Given the description of an element on the screen output the (x, y) to click on. 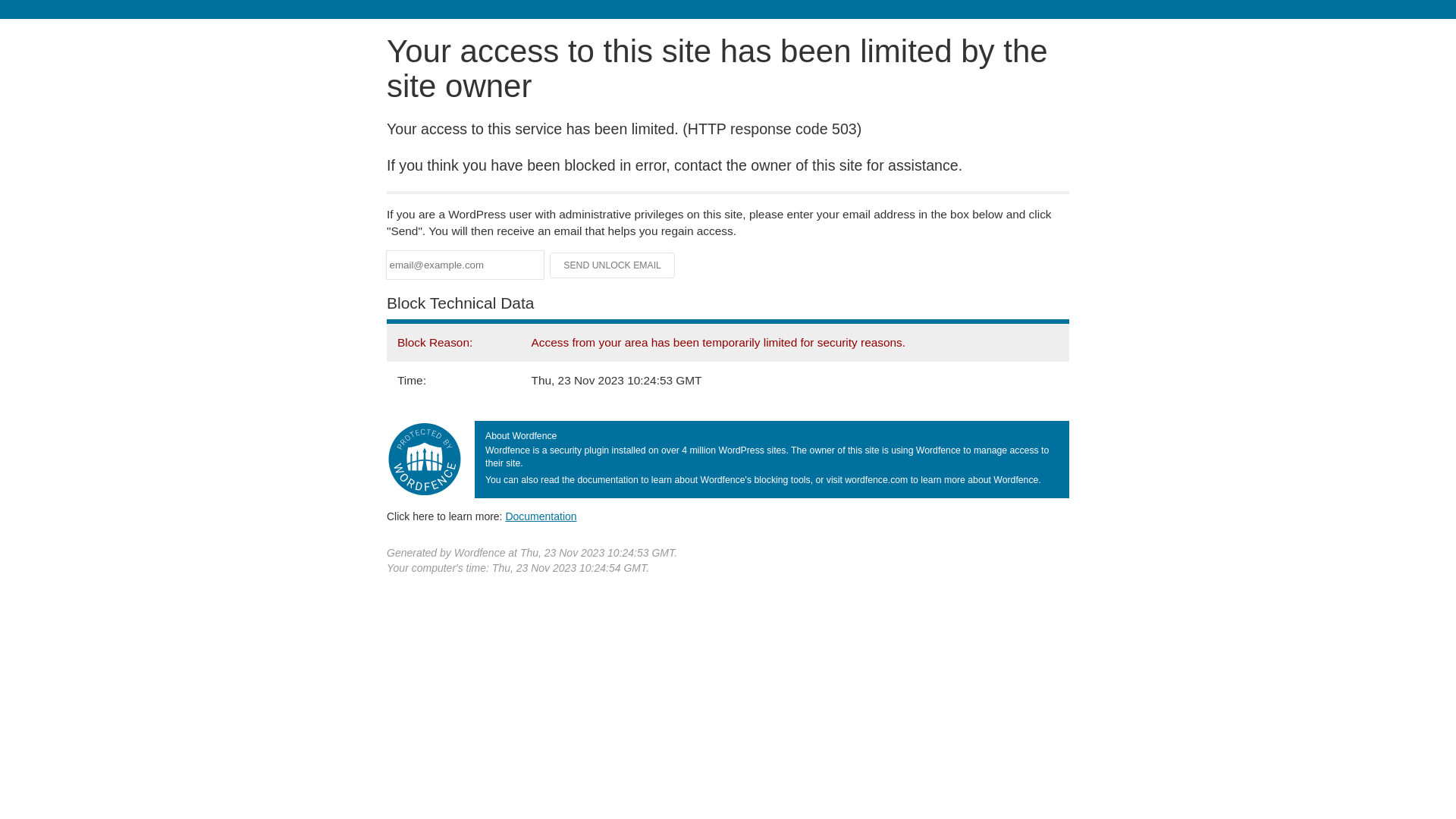
Send Unlock Email Element type: text (612, 265)
Documentation Element type: text (540, 516)
